Given the description of an element on the screen output the (x, y) to click on. 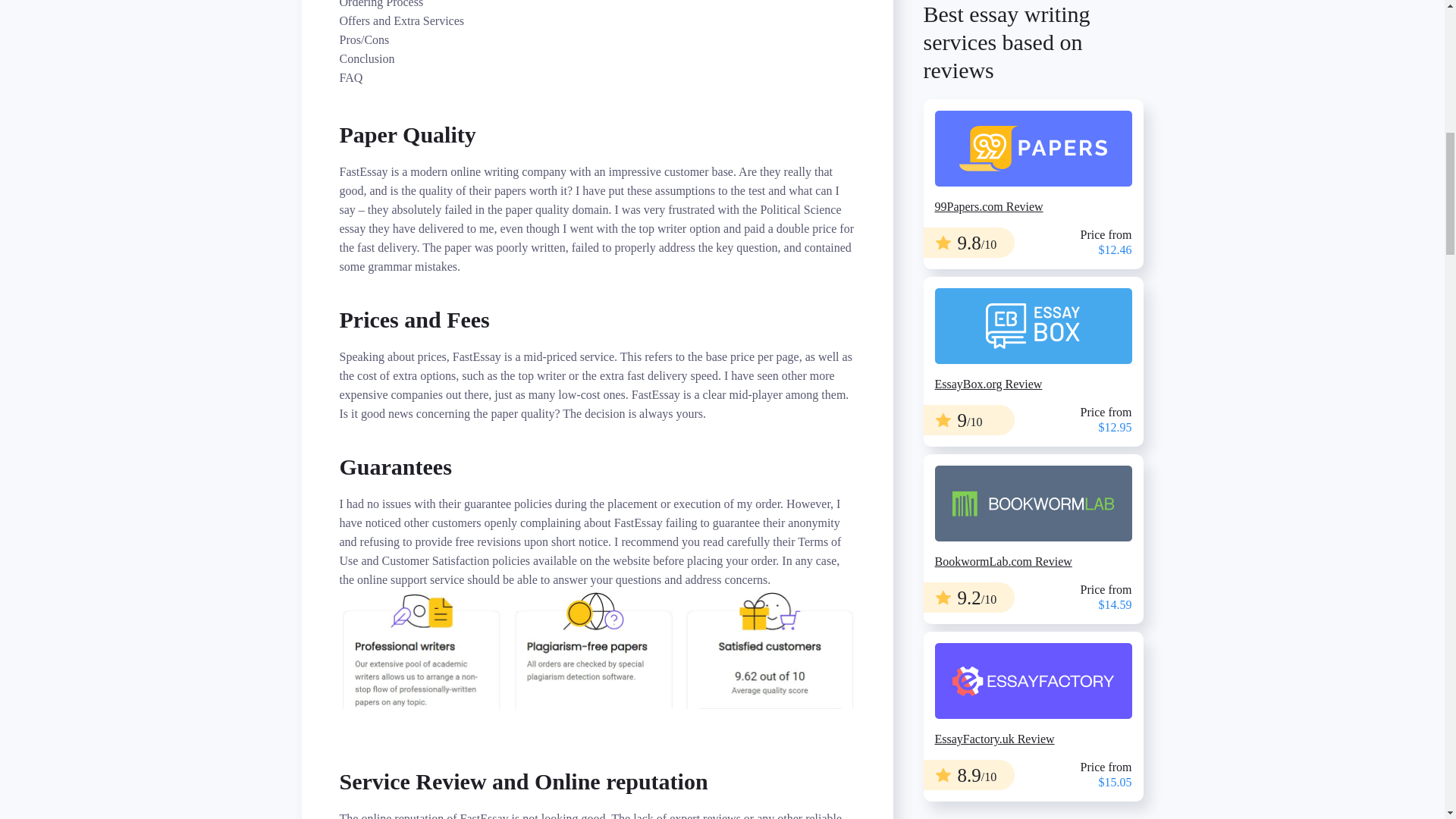
EssayFactory.uk Review (1032, 184)
FAQ (597, 76)
BookwormLab.com Review (1032, 46)
Ordering Process (597, 5)
Offers and Extra Services (597, 20)
Conclusion (597, 58)
